Given the description of an element on the screen output the (x, y) to click on. 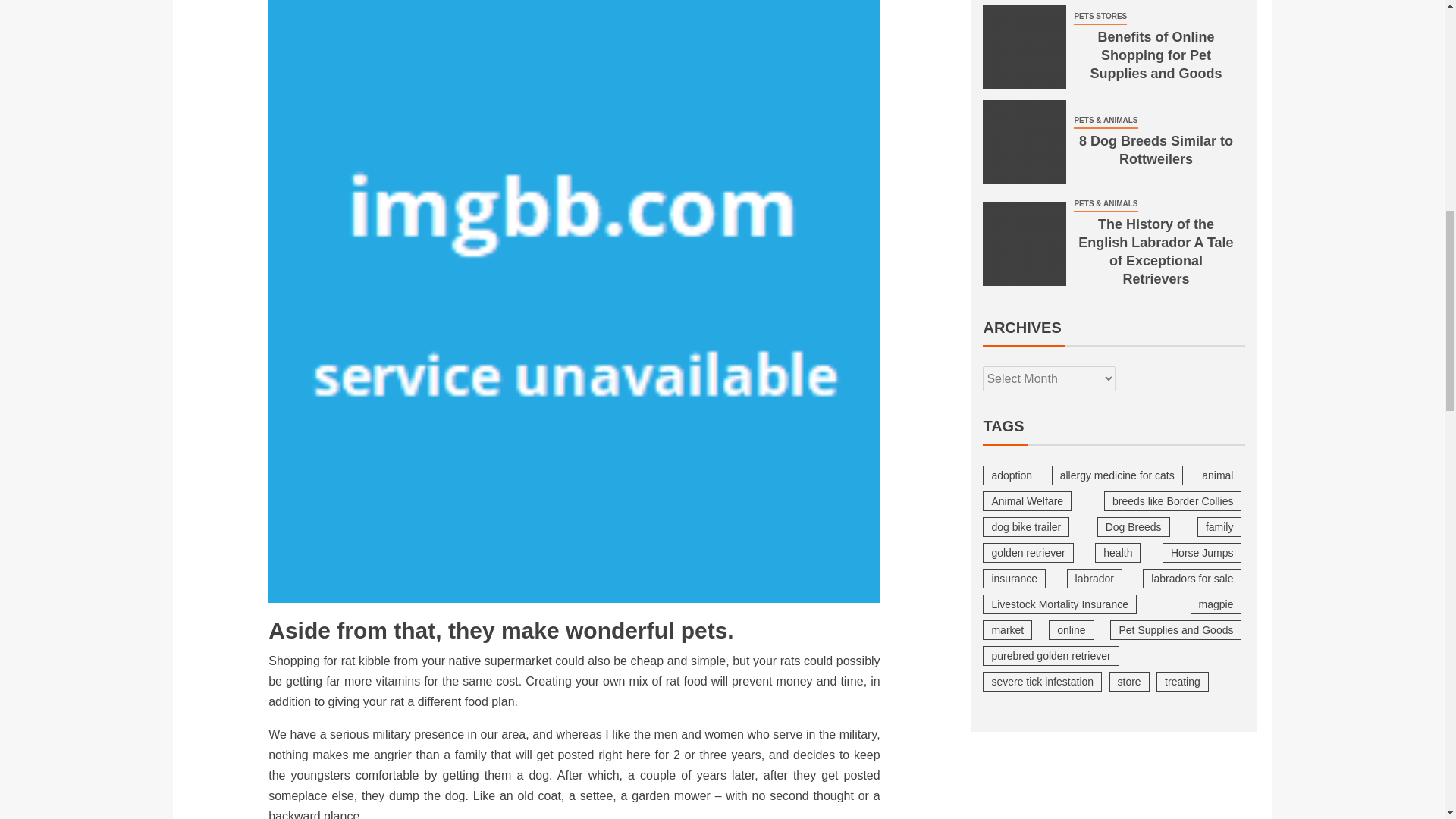
Benefits of Online Shopping for Pet Supplies and Goods (1023, 46)
8 Dog Breeds Similar to Rottweilers (1023, 141)
